Given the description of an element on the screen output the (x, y) to click on. 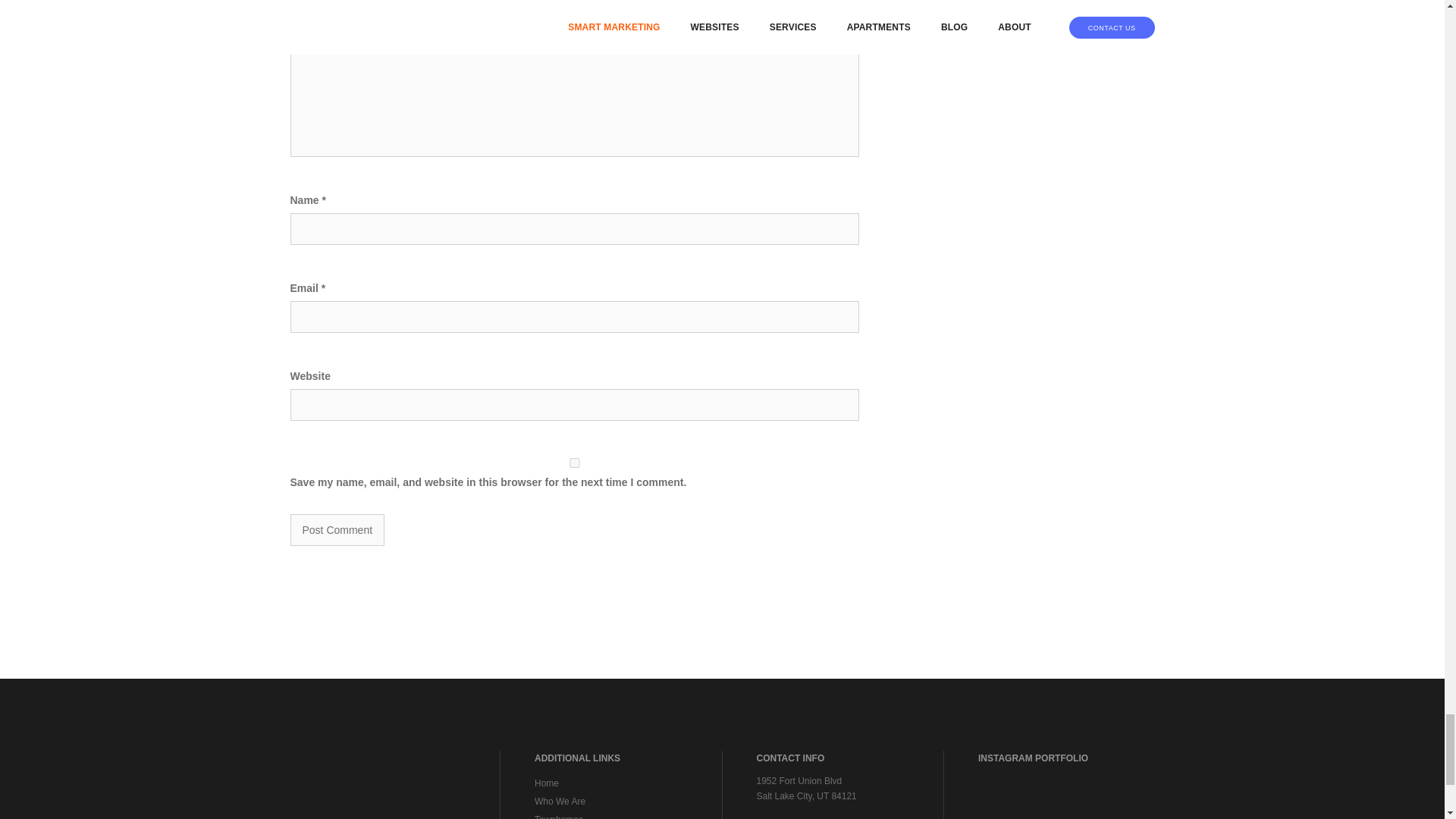
Post Comment (336, 530)
yes (574, 462)
